Given the description of an element on the screen output the (x, y) to click on. 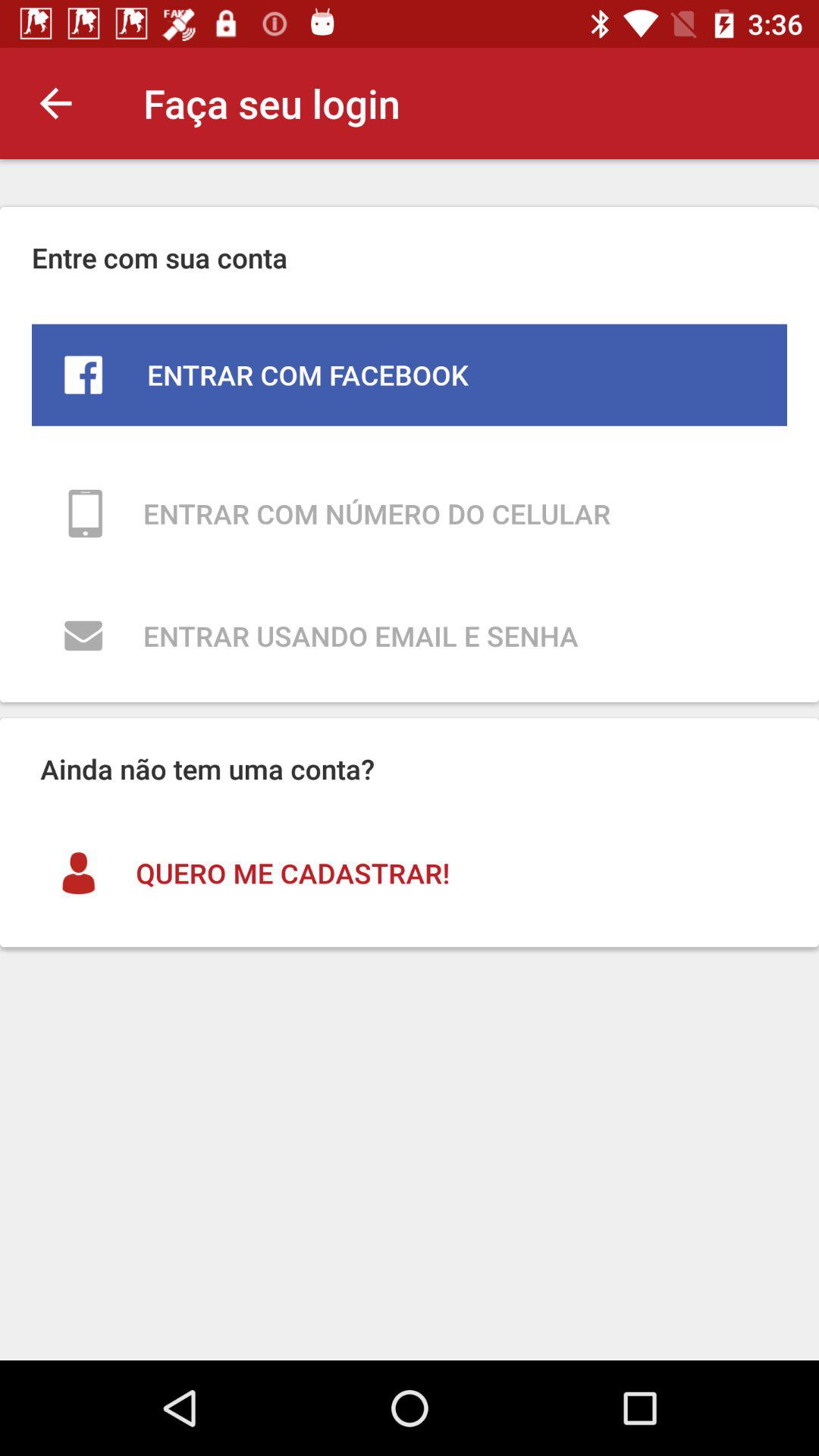
flip to quero me cadastrar! item (409, 873)
